Given the description of an element on the screen output the (x, y) to click on. 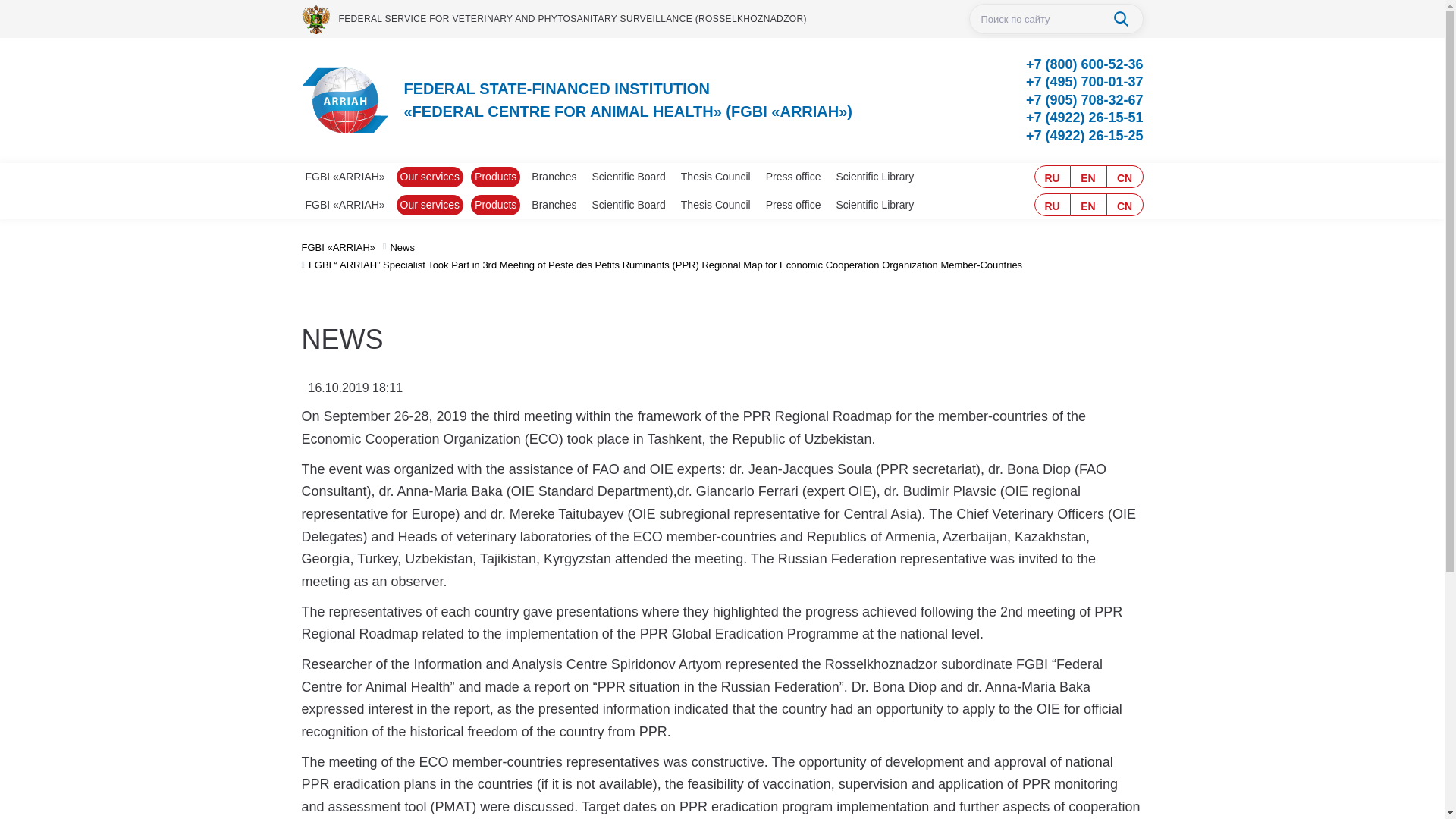
News (402, 246)
Our services (430, 177)
